Given the description of an element on the screen output the (x, y) to click on. 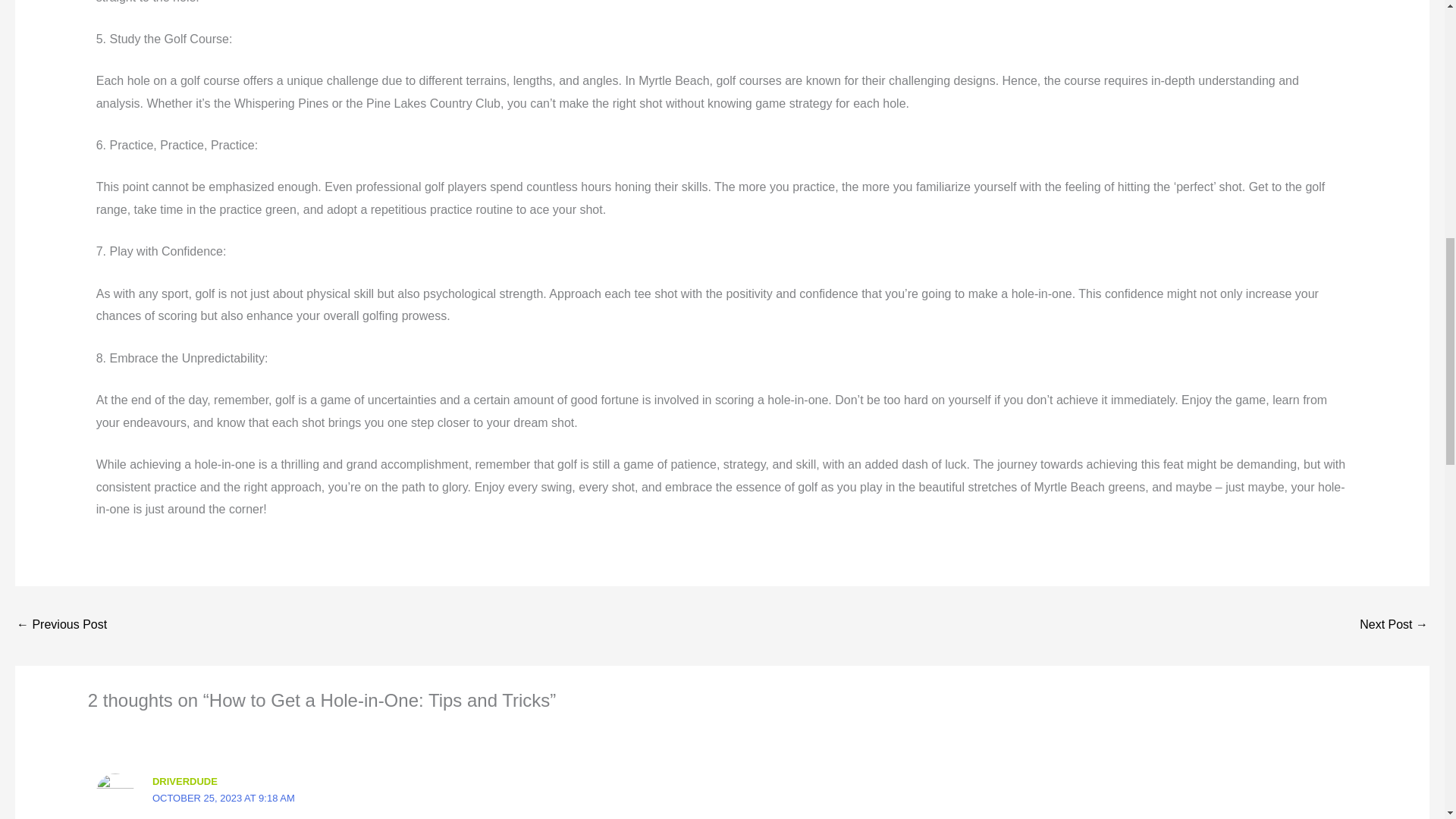
The Best Golf Courses for Advanced Players in Myrtle Beach (1393, 625)
The Best Golf Simulators for Off-Season Practice (61, 625)
OCTOBER 25, 2023 AT 9:18 AM (223, 797)
